Given the description of an element on the screen output the (x, y) to click on. 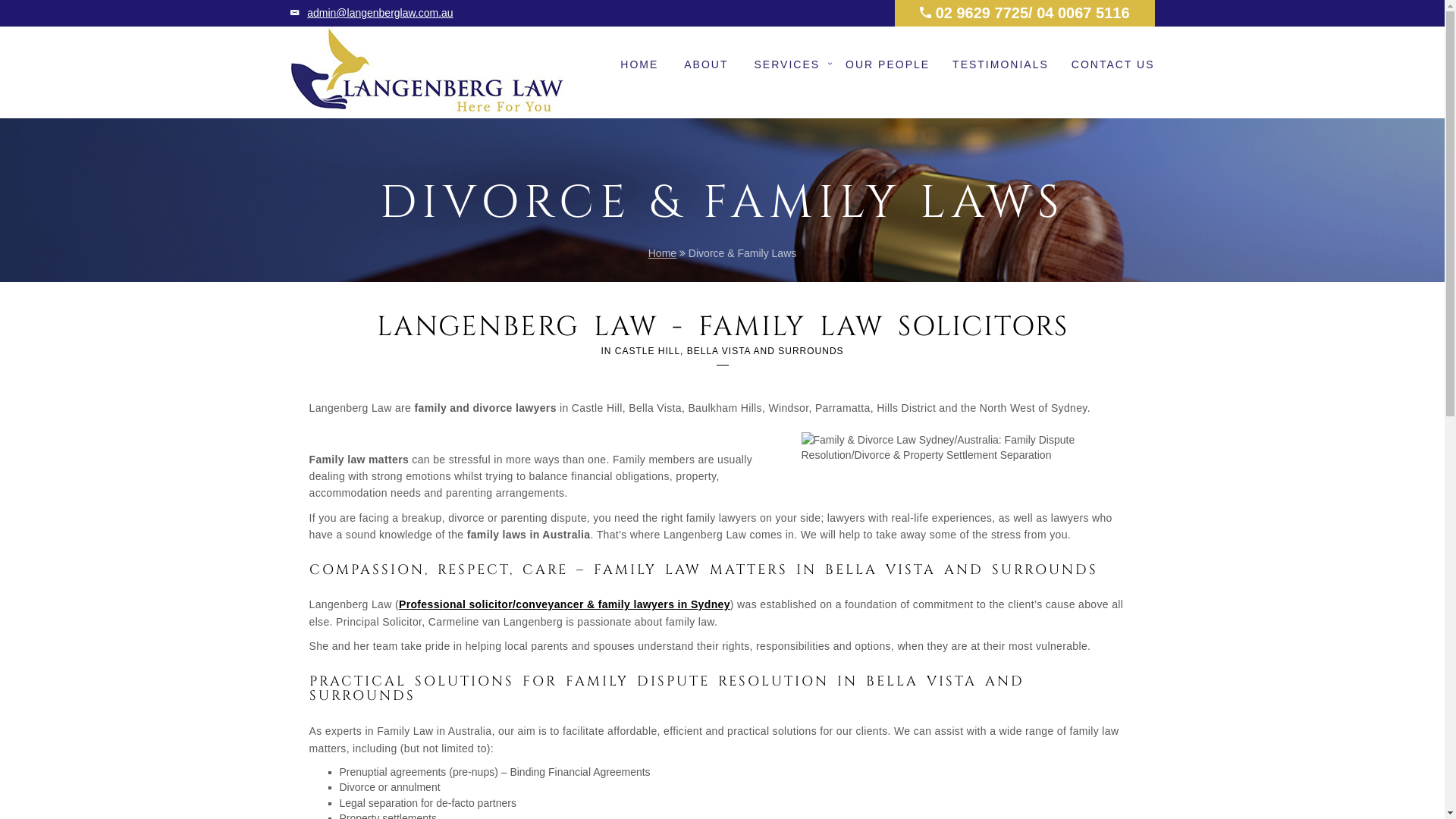
OUR PEOPLE Element type: text (887, 54)
TESTIMONIALS Element type: text (1000, 54)
ABOUT Element type: text (705, 54)
admin@langenberglaw.com.au Element type: text (379, 12)
CONTACT US Element type: text (1113, 54)
SERVICES Element type: text (787, 54)
HOME Element type: text (638, 54)
Home Element type: text (662, 253)
